Given the description of an element on the screen output the (x, y) to click on. 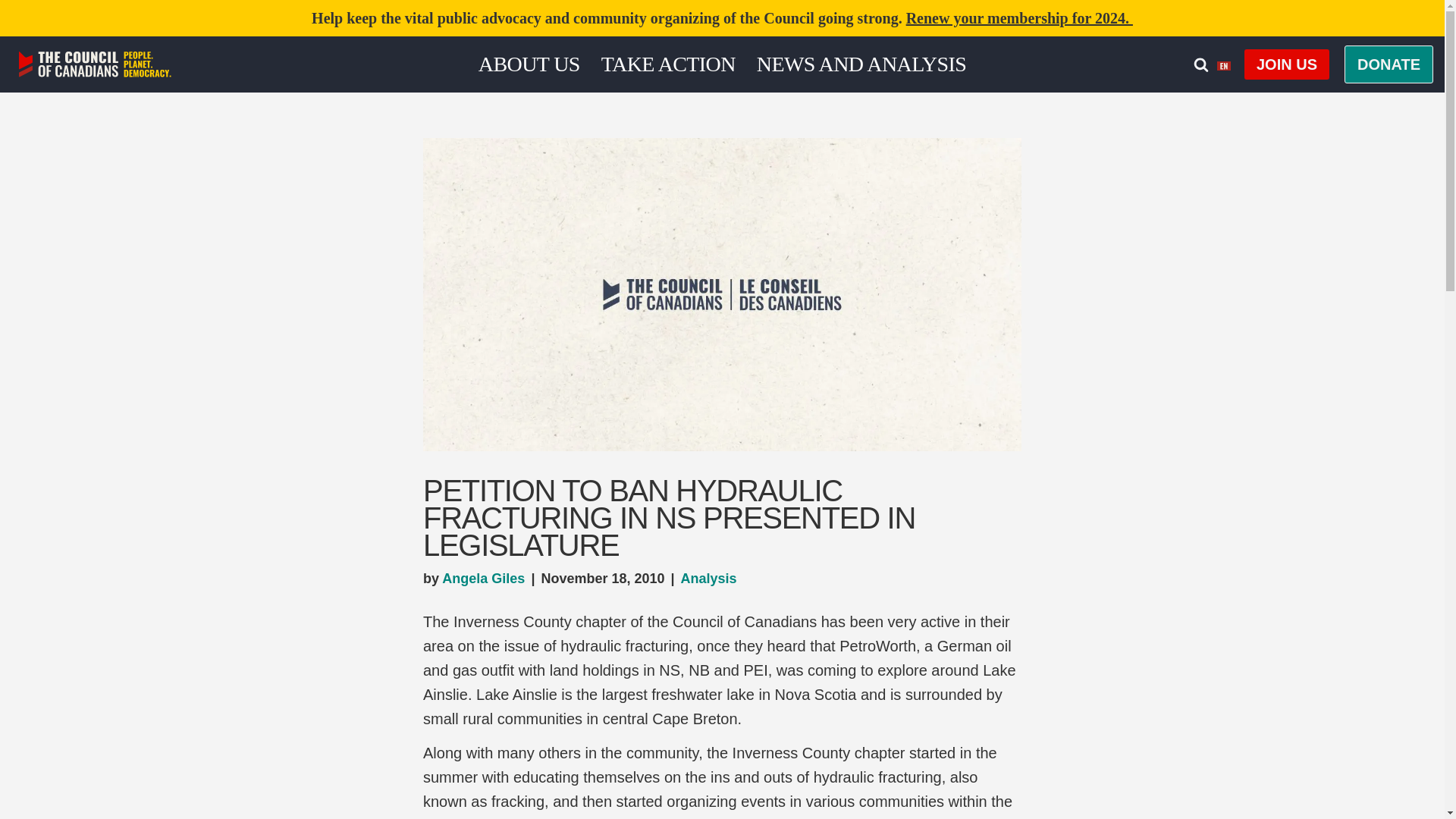
Renew your membership for 2024.  (1018, 17)
DONATE (1387, 64)
Analysis (708, 578)
NEWS AND ANALYSIS (861, 63)
JOIN US (1286, 64)
ABOUT US (529, 63)
Posts by Angela Giles (483, 578)
Skip to content (11, 31)
TAKE ACTION (668, 63)
Angela Giles (483, 578)
